Given the description of an element on the screen output the (x, y) to click on. 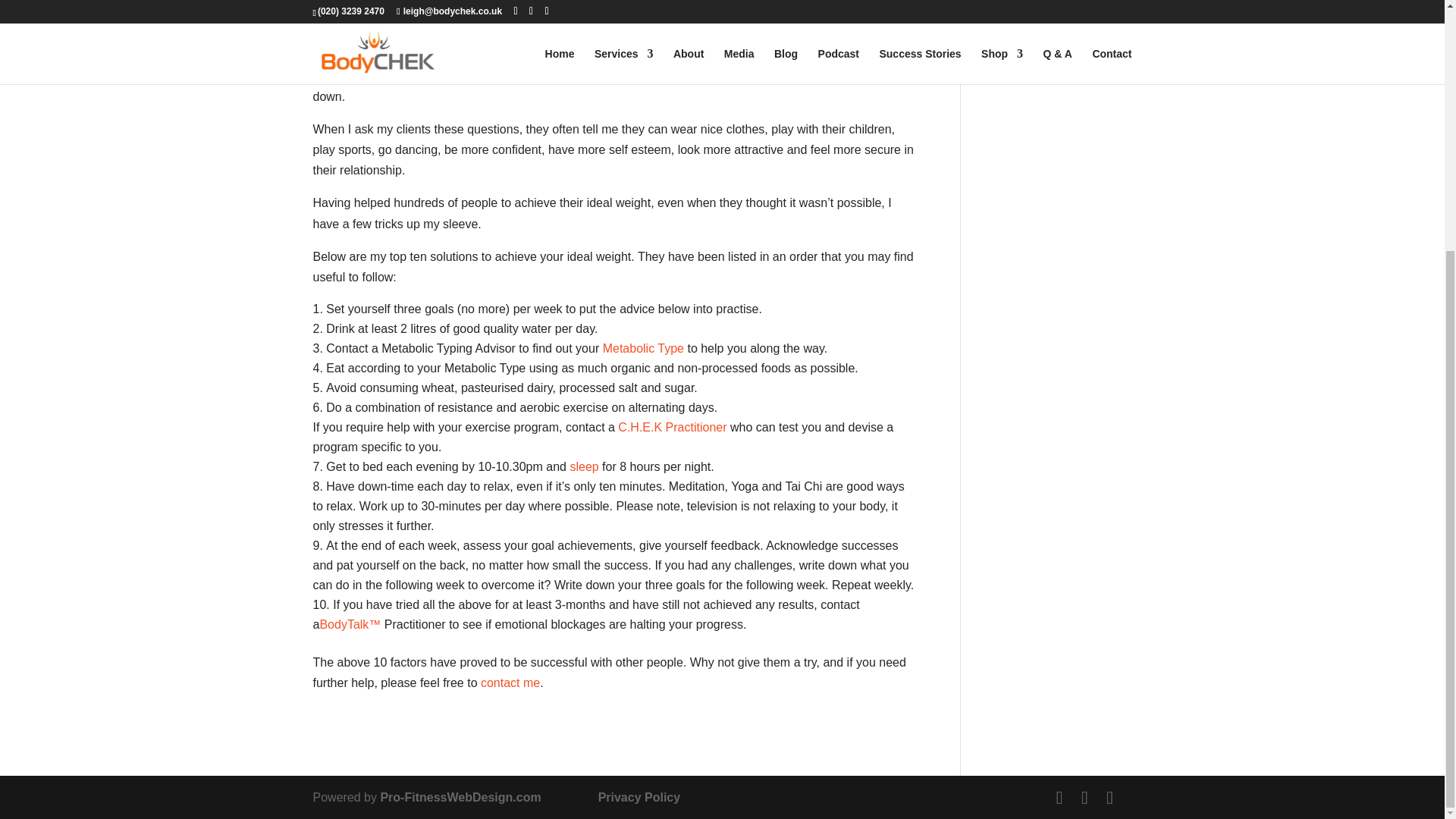
Fitness Web Design (460, 797)
